Given the description of an element on the screen output the (x, y) to click on. 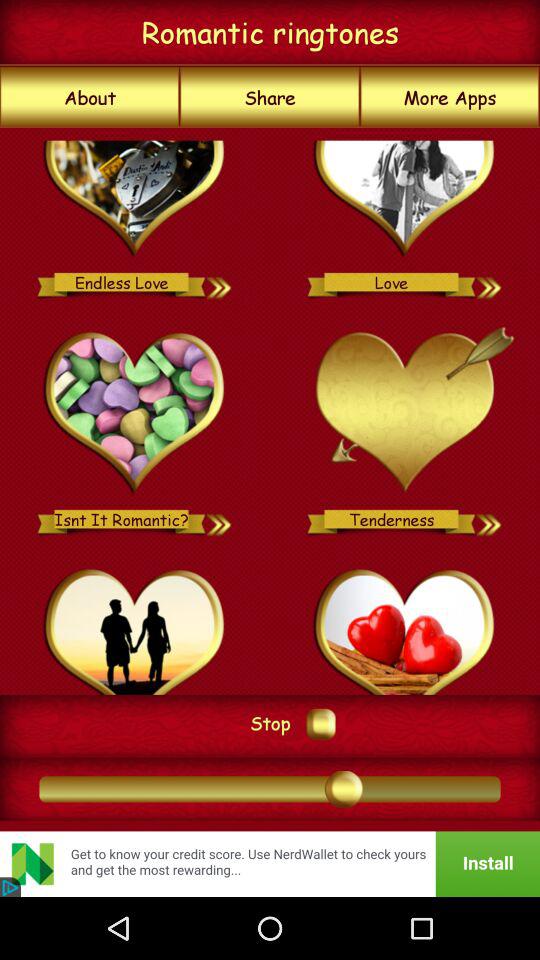
turn on the icon below the about button (270, 410)
